Given the description of an element on the screen output the (x, y) to click on. 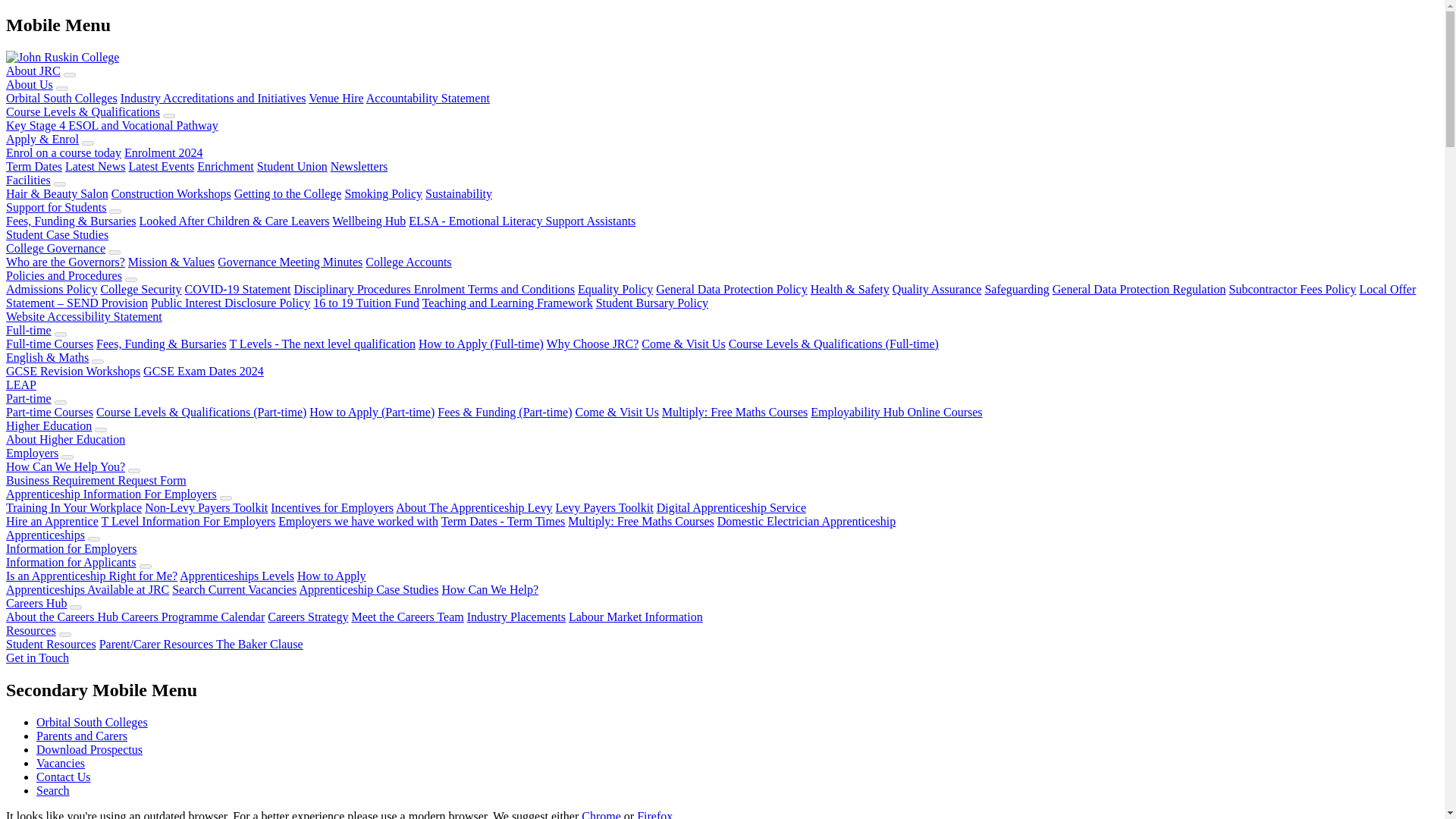
About Us (28, 83)
Enrichment (224, 165)
About JRC (33, 70)
Latest Events (162, 165)
Support for Students (55, 206)
Enrolment 2024 (163, 152)
Facilities (27, 179)
Orbital South Colleges (61, 97)
Newsletters (359, 165)
Smoking Policy (382, 193)
Construction Workshops (171, 193)
Key Stage 4 ESOL and Vocational Pathway (111, 124)
Term Dates (33, 165)
ELSA - Emotional Literacy Support Assistants (521, 220)
Enrol on a course today (62, 152)
